Given the description of an element on the screen output the (x, y) to click on. 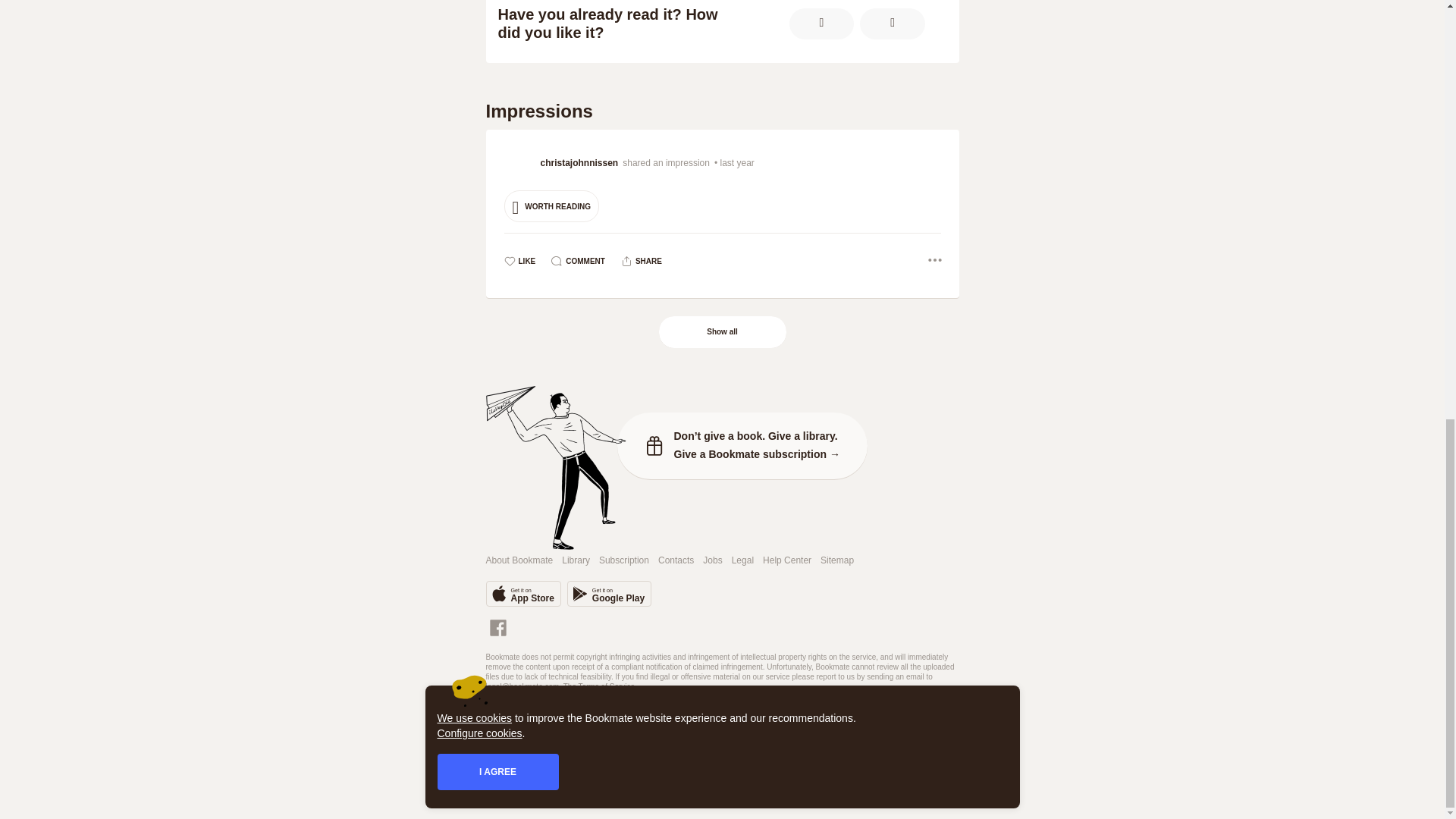
About Bookmate (518, 560)
Show all (722, 332)
Subscription (623, 560)
Library (575, 560)
Show all (722, 331)
